Given the description of an element on the screen output the (x, y) to click on. 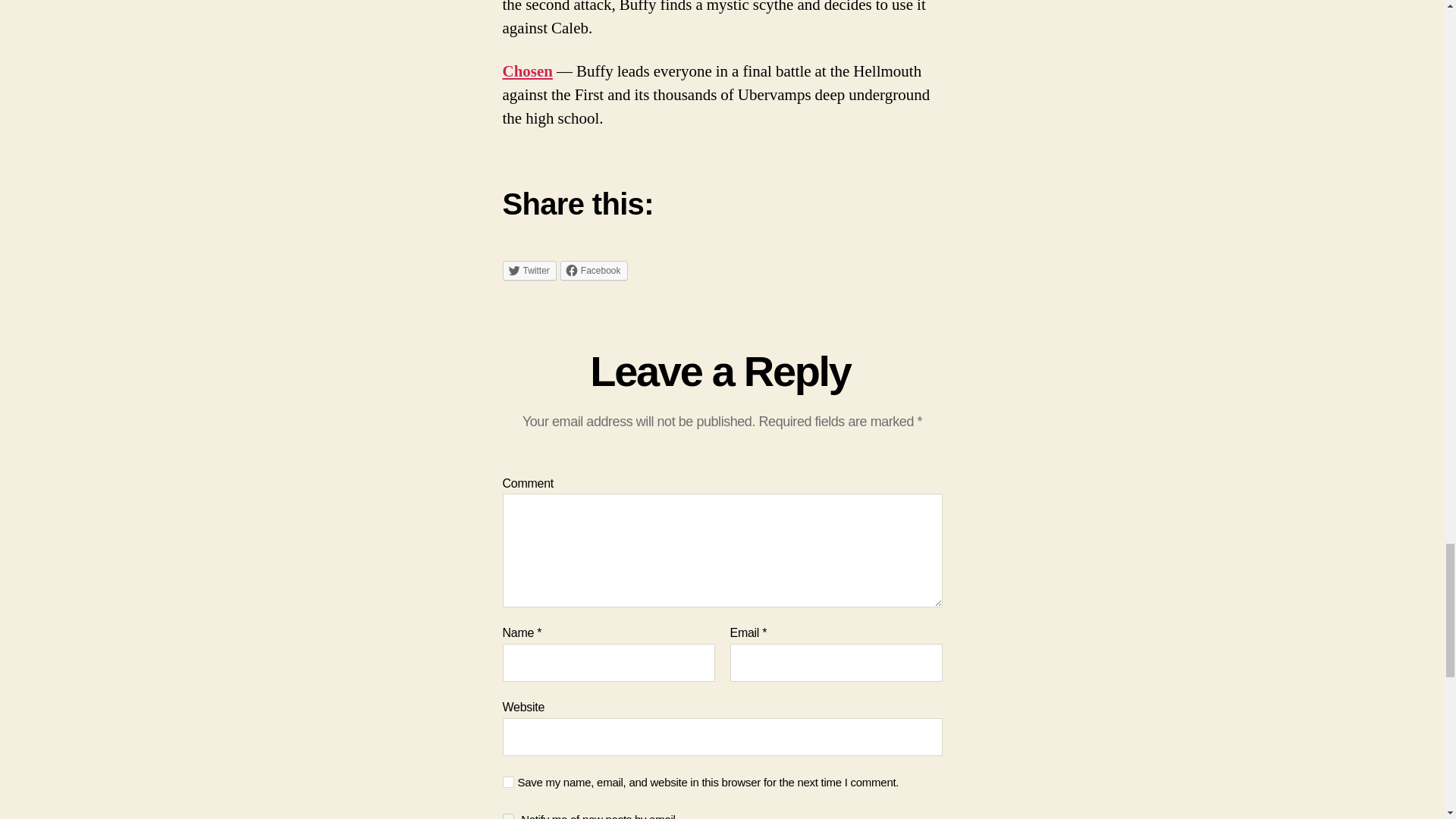
Click to share on Twitter (529, 270)
yes (507, 781)
subscribe (507, 816)
Click to share on Facebook (593, 270)
